Given the description of an element on the screen output the (x, y) to click on. 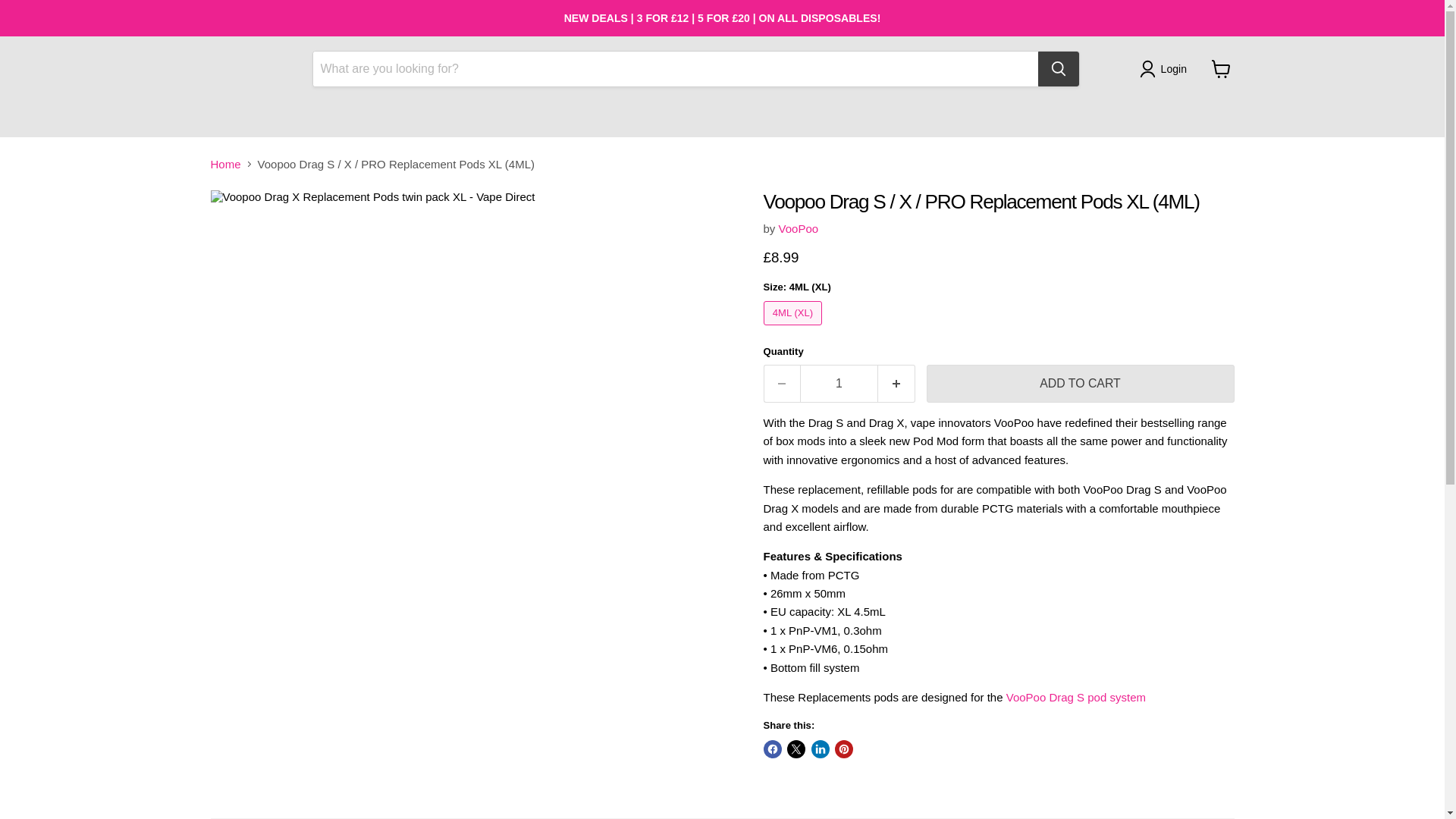
Login (1166, 68)
View cart (1221, 68)
1 (838, 383)
VooPoo (798, 228)
